Given the description of an element on the screen output the (x, y) to click on. 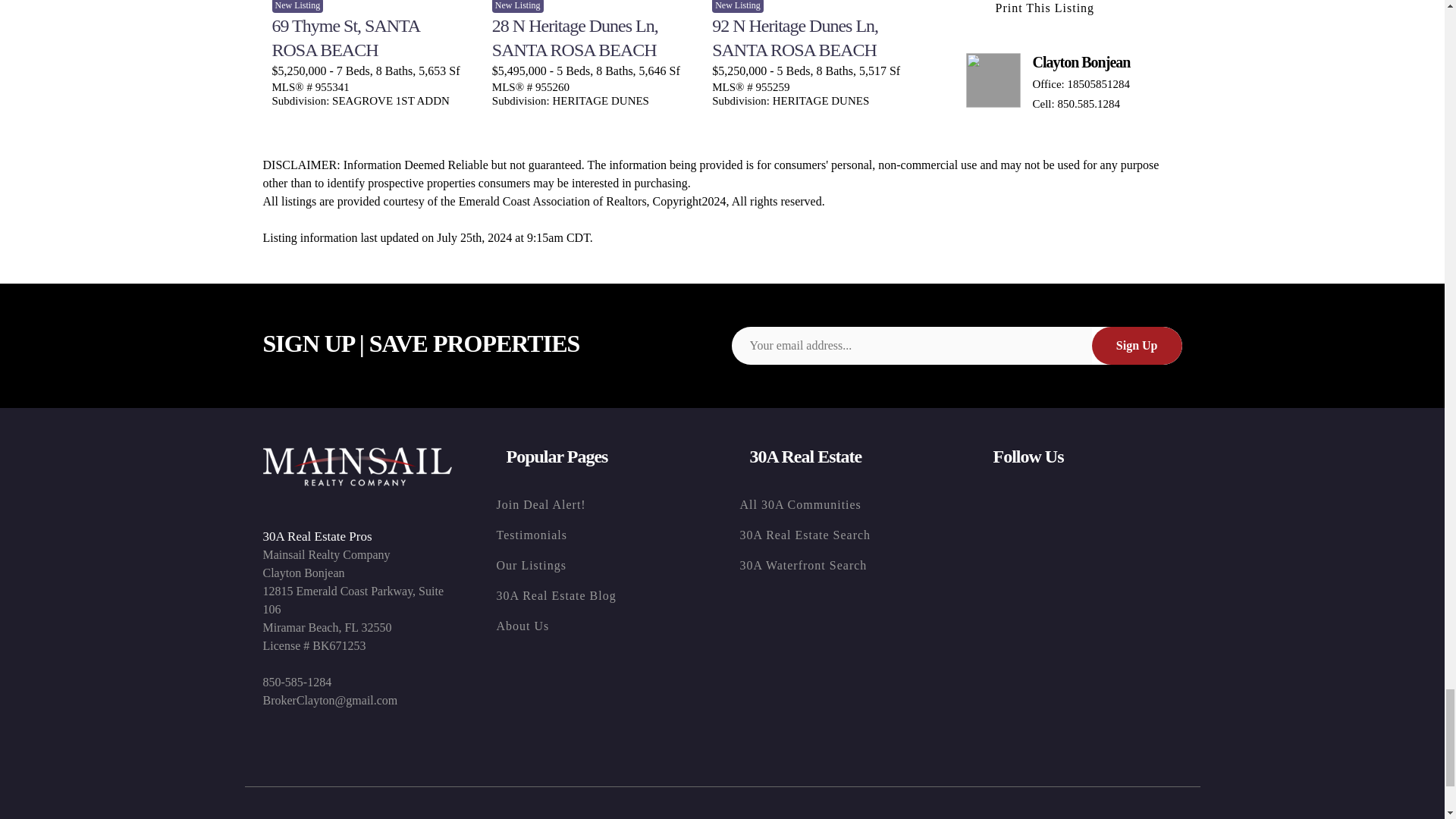
Site Logo (356, 466)
